Given the description of an element on the screen output the (x, y) to click on. 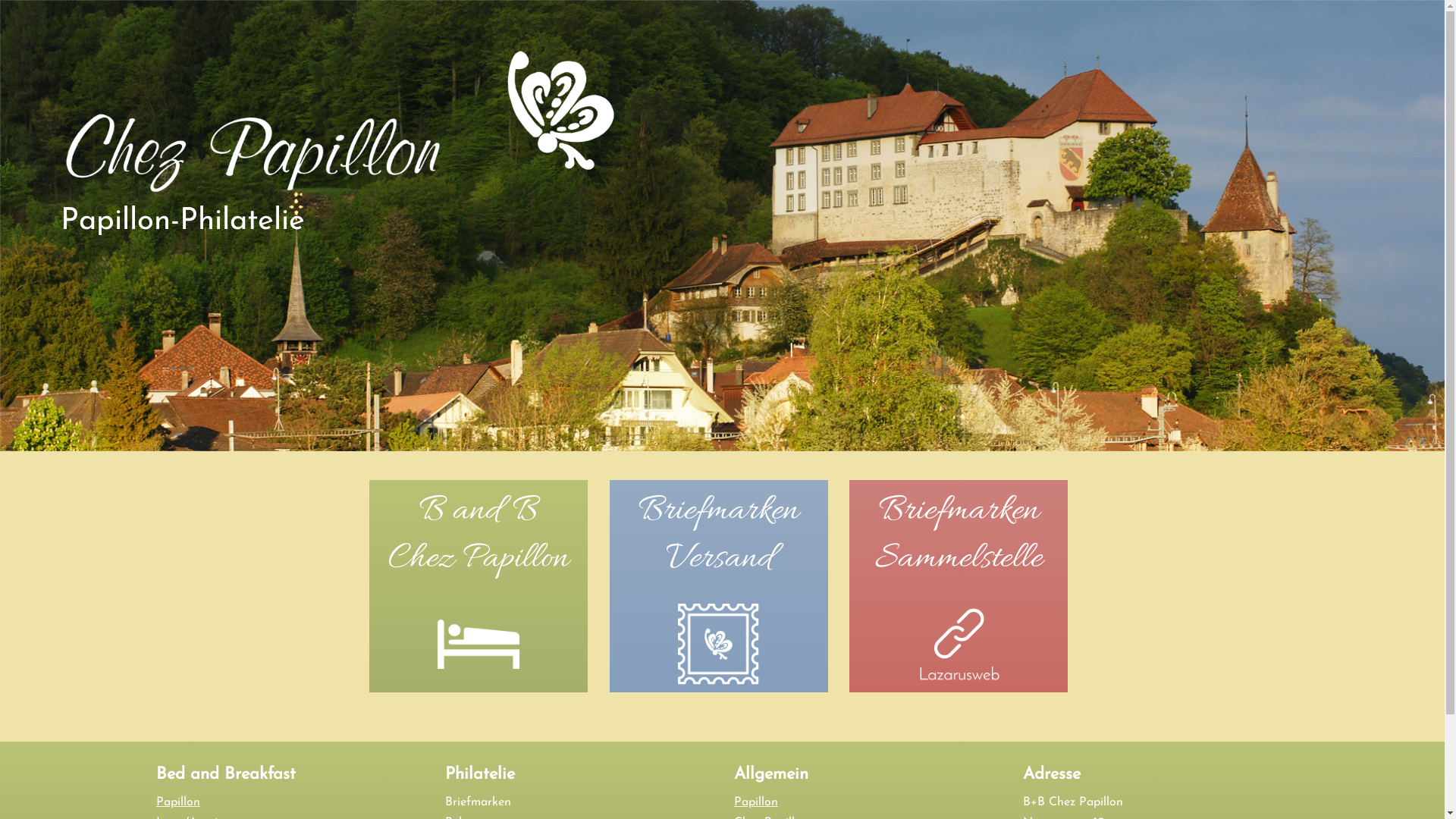
Papillon-Philatelie Element type: text (339, 205)
Briefmarken Element type: text (578, 802)
